Given the description of an element on the screen output the (x, y) to click on. 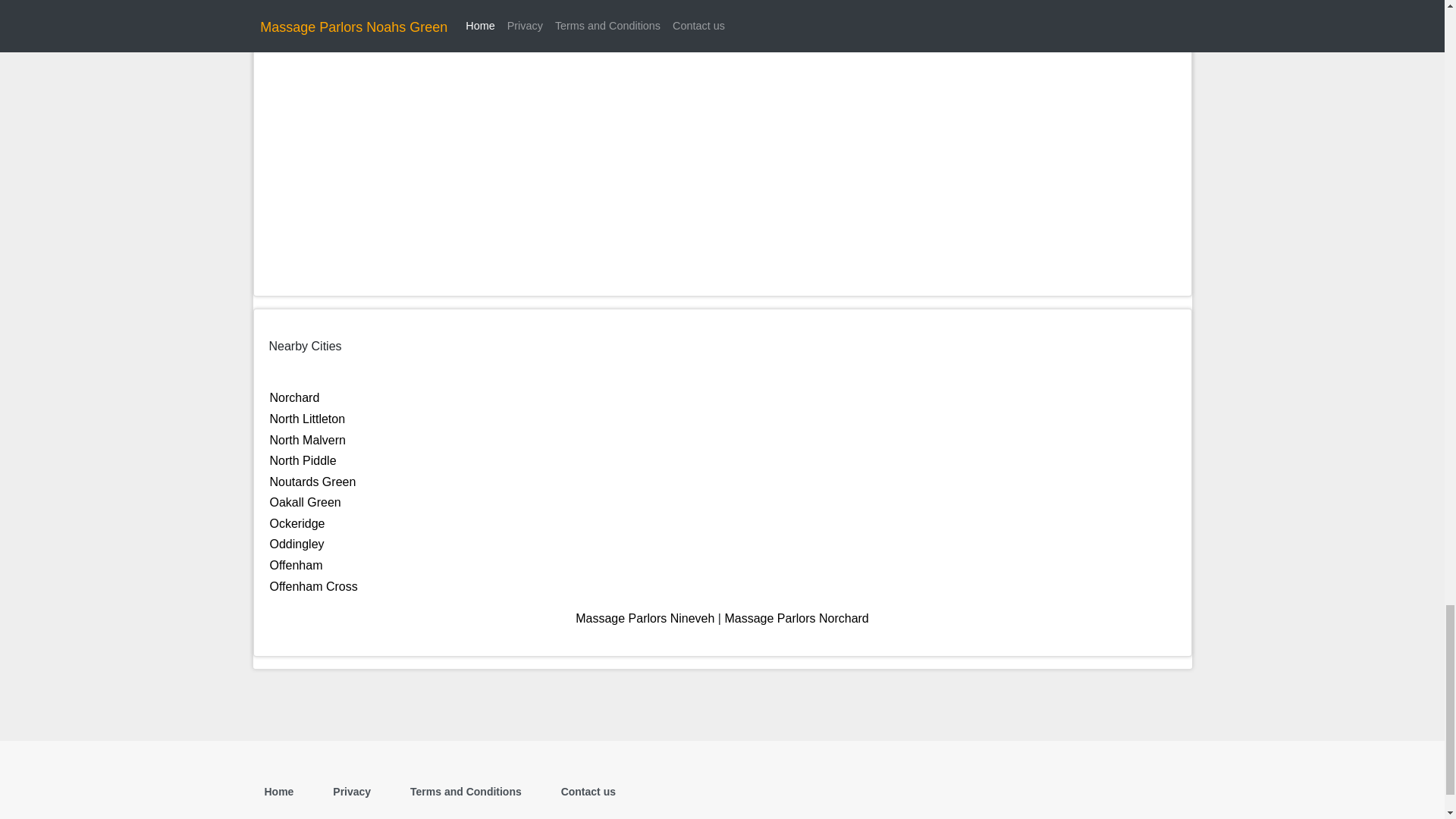
Oakall Green (304, 502)
Ockeridge (296, 522)
North Littleton (307, 418)
North Malvern (307, 440)
North Piddle (302, 460)
Massage Parlors Norchard (795, 617)
Noutards Green (312, 481)
Offenham (296, 564)
Offenham Cross (313, 585)
Massage Parlors Nineveh (644, 617)
Norchard (294, 397)
Oddingley (296, 543)
